Given the description of an element on the screen output the (x, y) to click on. 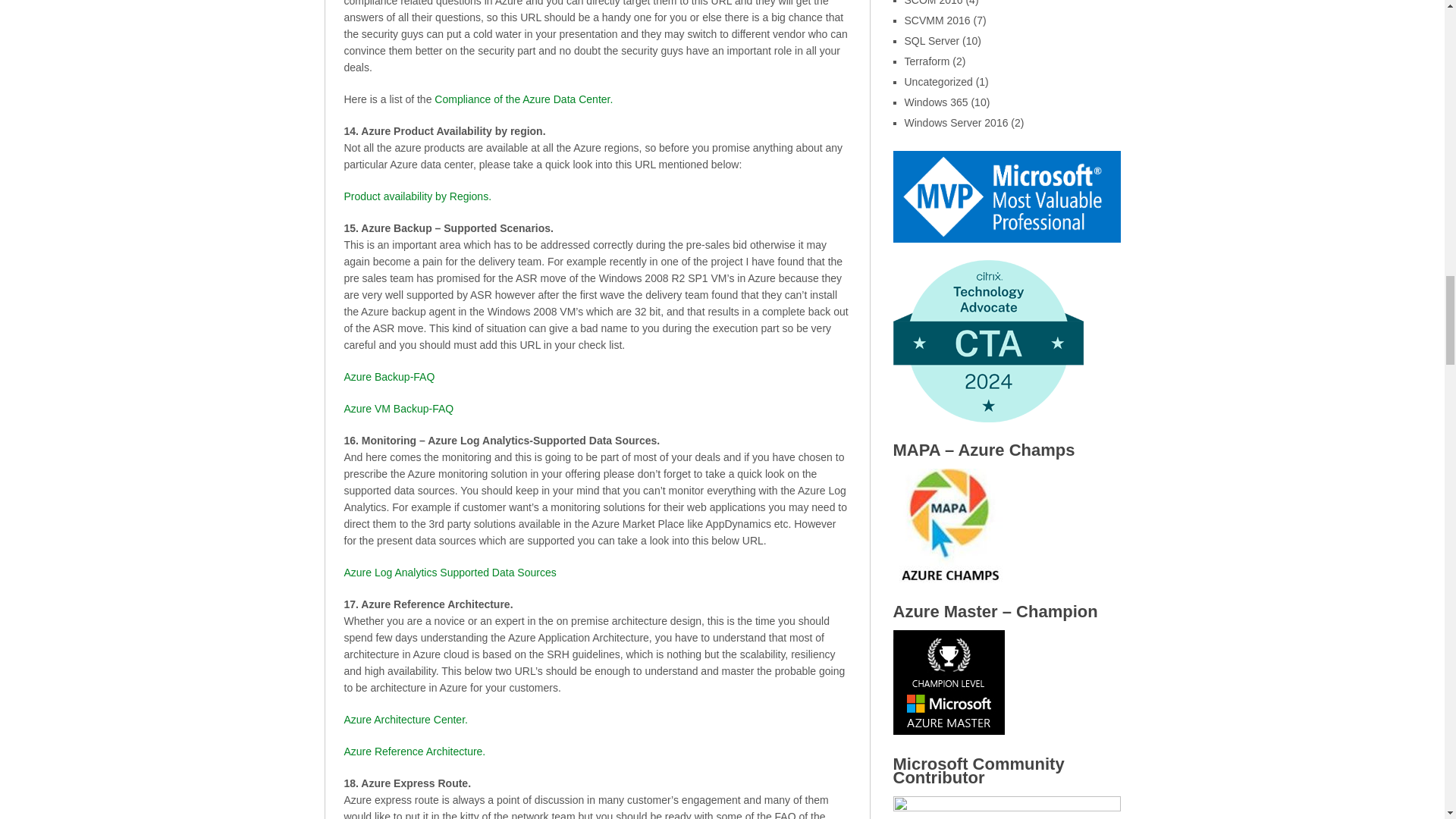
Product availability by Regions. (417, 196)
Compliance of the Azure Data Center. (522, 99)
Azure Backup-FAQ (389, 377)
